Given the description of an element on the screen output the (x, y) to click on. 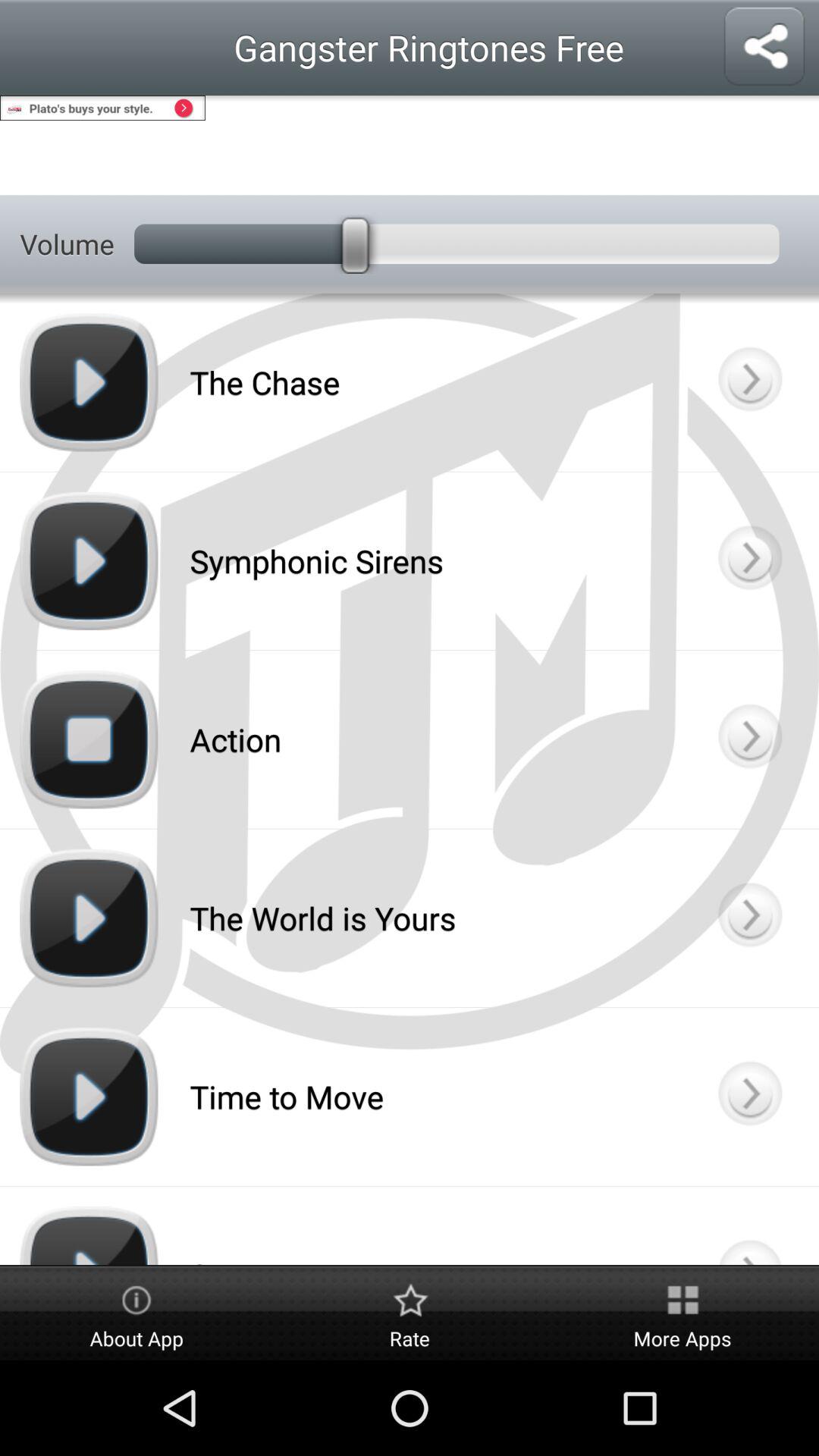
click on the sixth arrow symbol from top (749, 1225)
click on the button beside more apps (409, 1313)
